Given the description of an element on the screen output the (x, y) to click on. 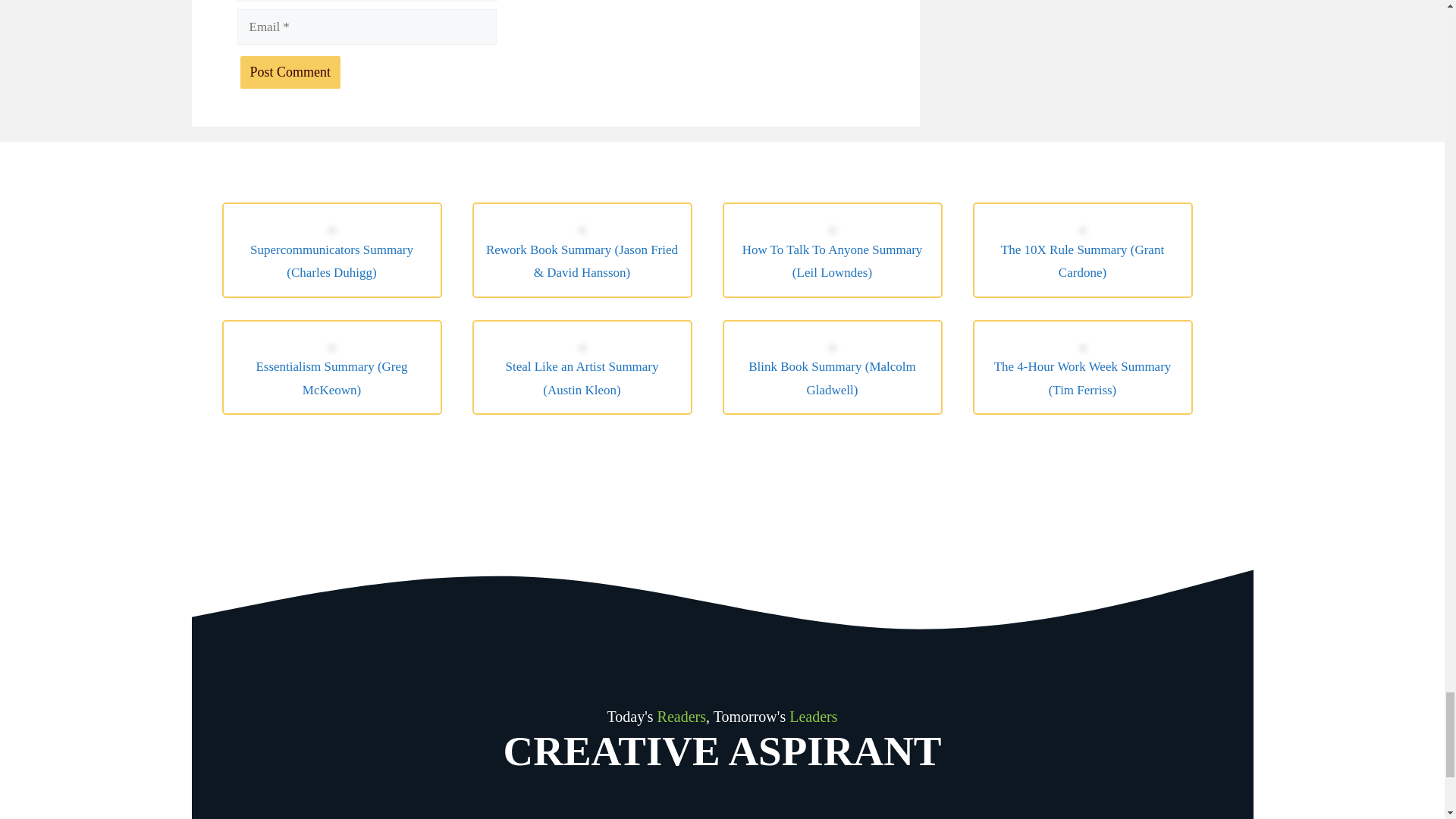
Post Comment (290, 72)
